Given the description of an element on the screen output the (x, y) to click on. 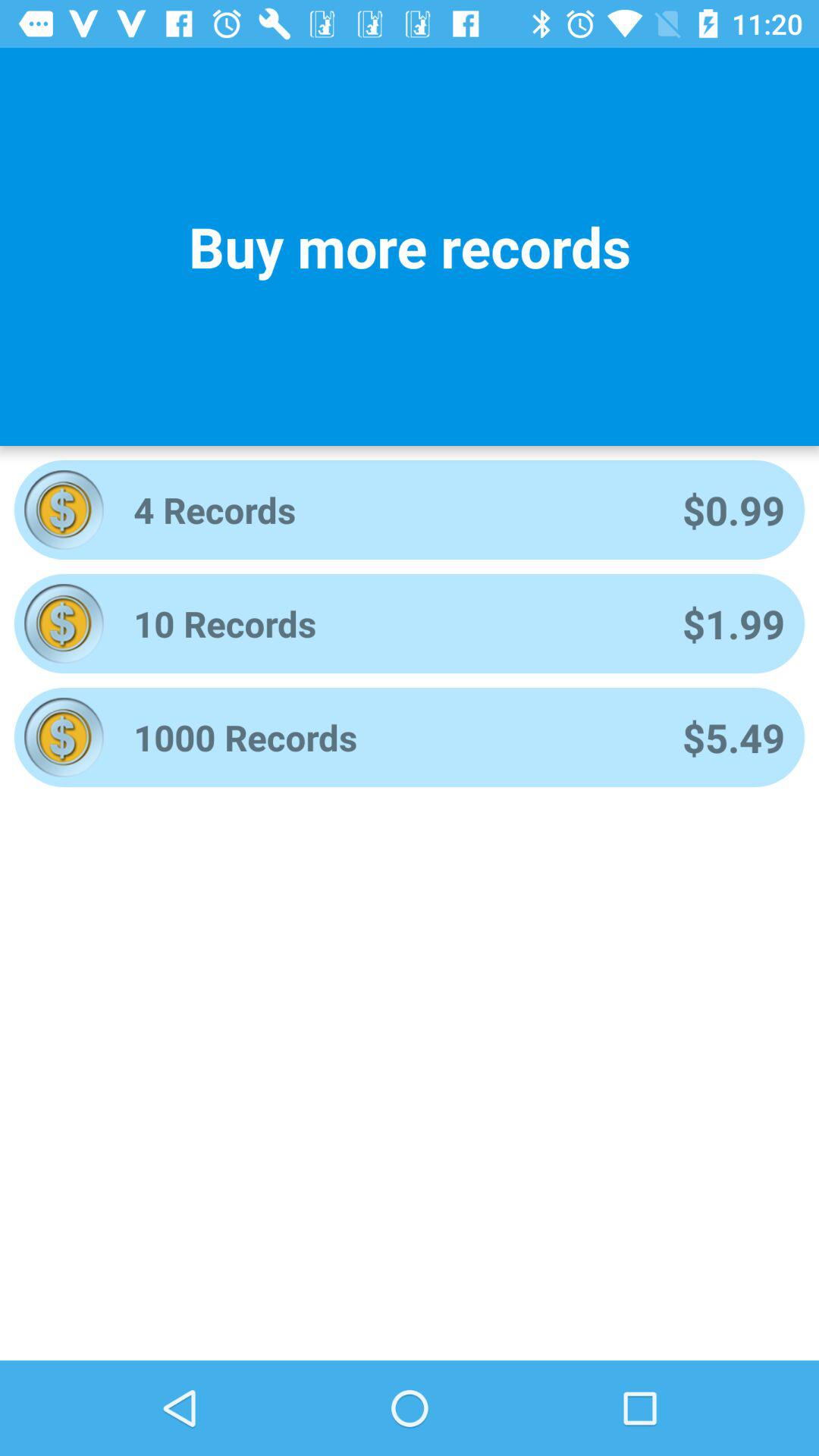
launch 4 records (387, 509)
